Given the description of an element on the screen output the (x, y) to click on. 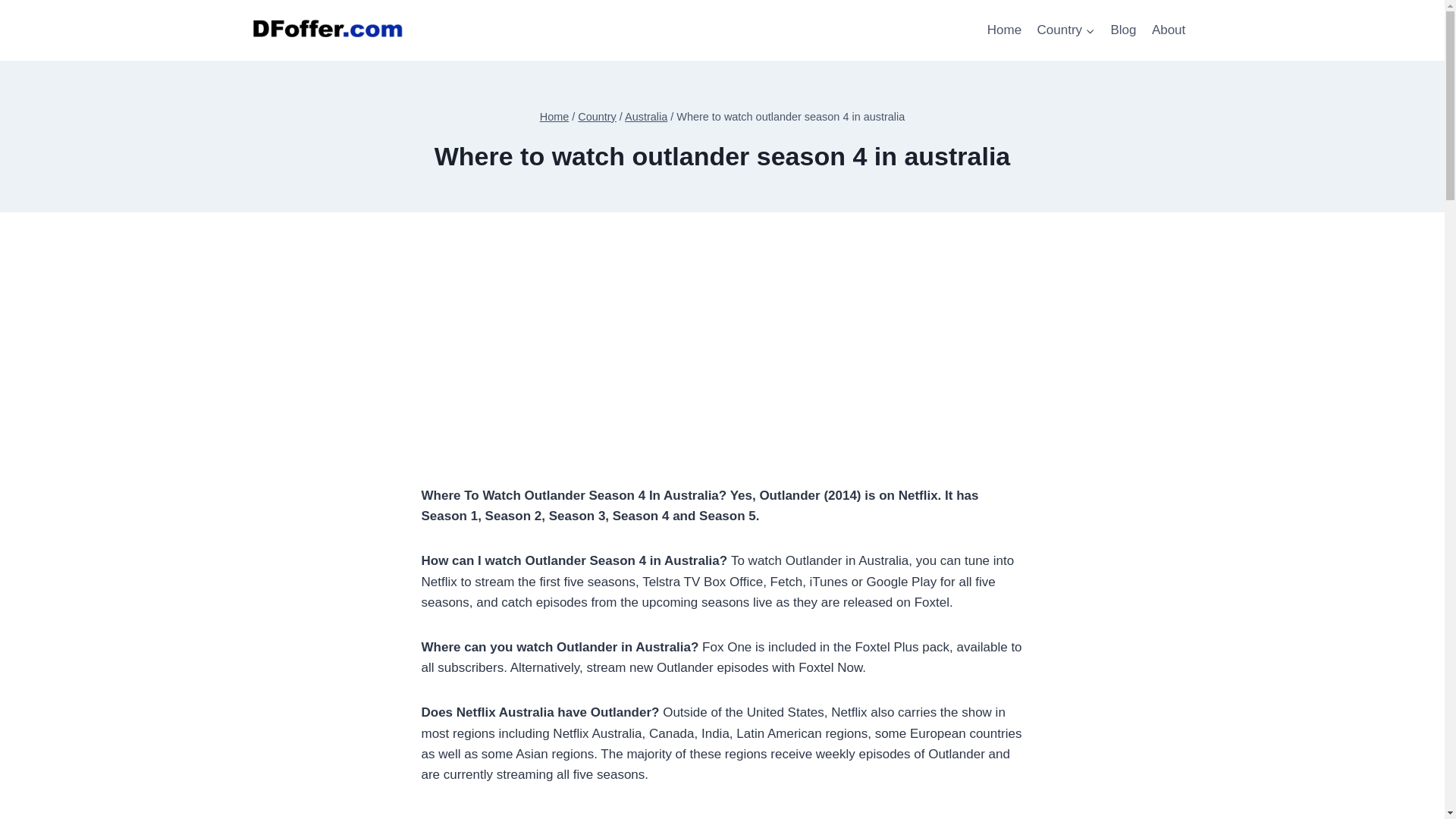
Advertisement (722, 378)
About (1168, 30)
Country (596, 116)
Home (1004, 30)
Blog (1122, 30)
Australia (645, 116)
Home (554, 116)
Country (1065, 30)
